Given the description of an element on the screen output the (x, y) to click on. 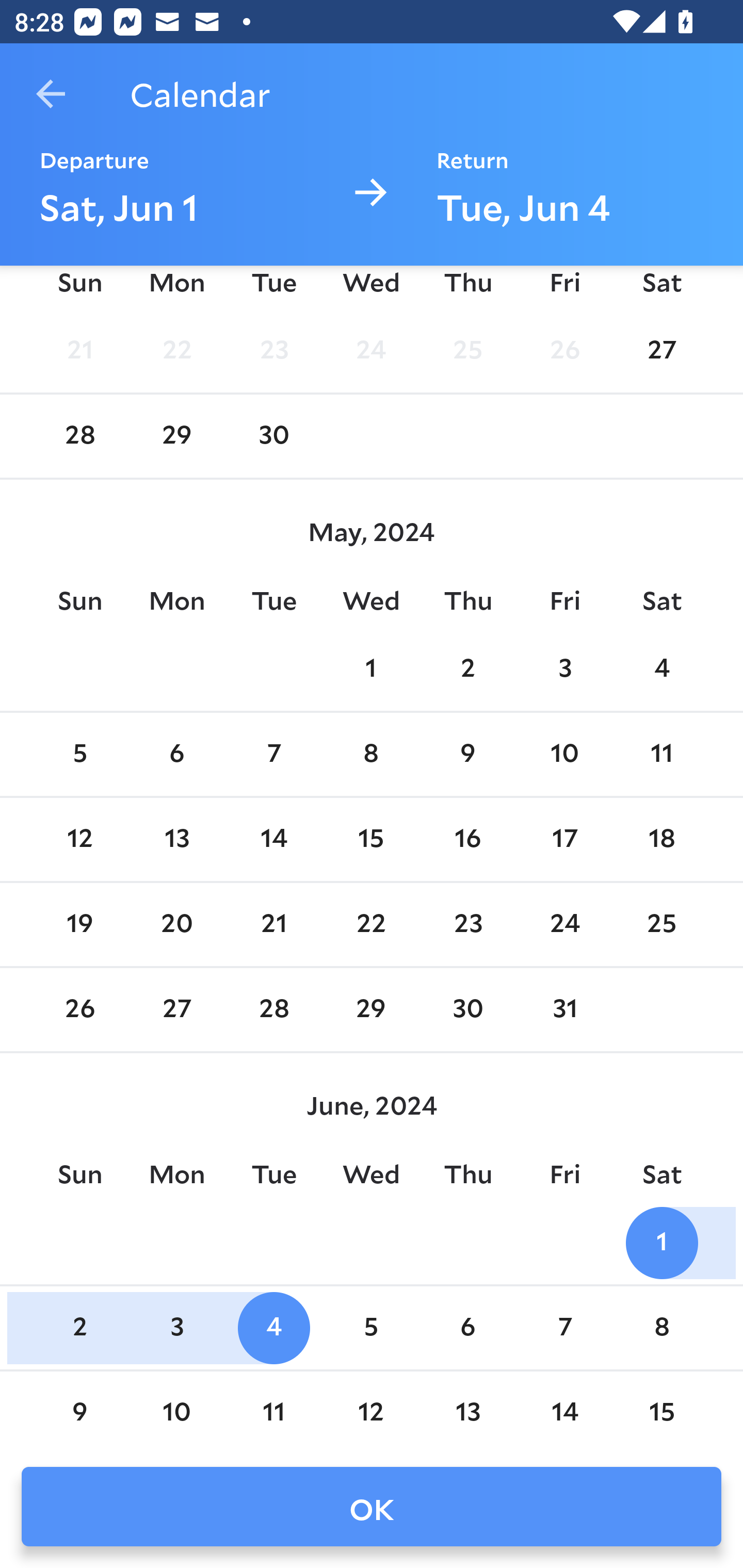
Navigate up (50, 93)
21 (79, 351)
22 (177, 351)
23 (273, 351)
24 (371, 351)
25 (467, 351)
26 (565, 351)
27 (661, 351)
28 (79, 435)
29 (177, 435)
30 (273, 435)
1 (371, 669)
2 (467, 669)
3 (565, 669)
4 (661, 669)
5 (79, 754)
6 (177, 754)
7 (273, 754)
8 (371, 754)
9 (467, 754)
10 (565, 754)
11 (661, 754)
12 (79, 839)
13 (177, 839)
14 (273, 839)
15 (371, 839)
16 (467, 839)
17 (565, 839)
18 (661, 839)
19 (79, 925)
20 (177, 925)
21 (273, 925)
22 (371, 925)
23 (467, 925)
24 (565, 925)
25 (661, 925)
26 (79, 1009)
27 (177, 1009)
28 (273, 1009)
29 (371, 1009)
30 (467, 1009)
31 (565, 1009)
1 (661, 1243)
2 (79, 1328)
3 (177, 1328)
4 (273, 1328)
5 (371, 1328)
6 (467, 1328)
7 (565, 1328)
8 (661, 1328)
9 (79, 1410)
10 (177, 1410)
11 (273, 1410)
12 (371, 1410)
13 (467, 1410)
14 (565, 1410)
15 (661, 1410)
OK (371, 1506)
